Given the description of an element on the screen output the (x, y) to click on. 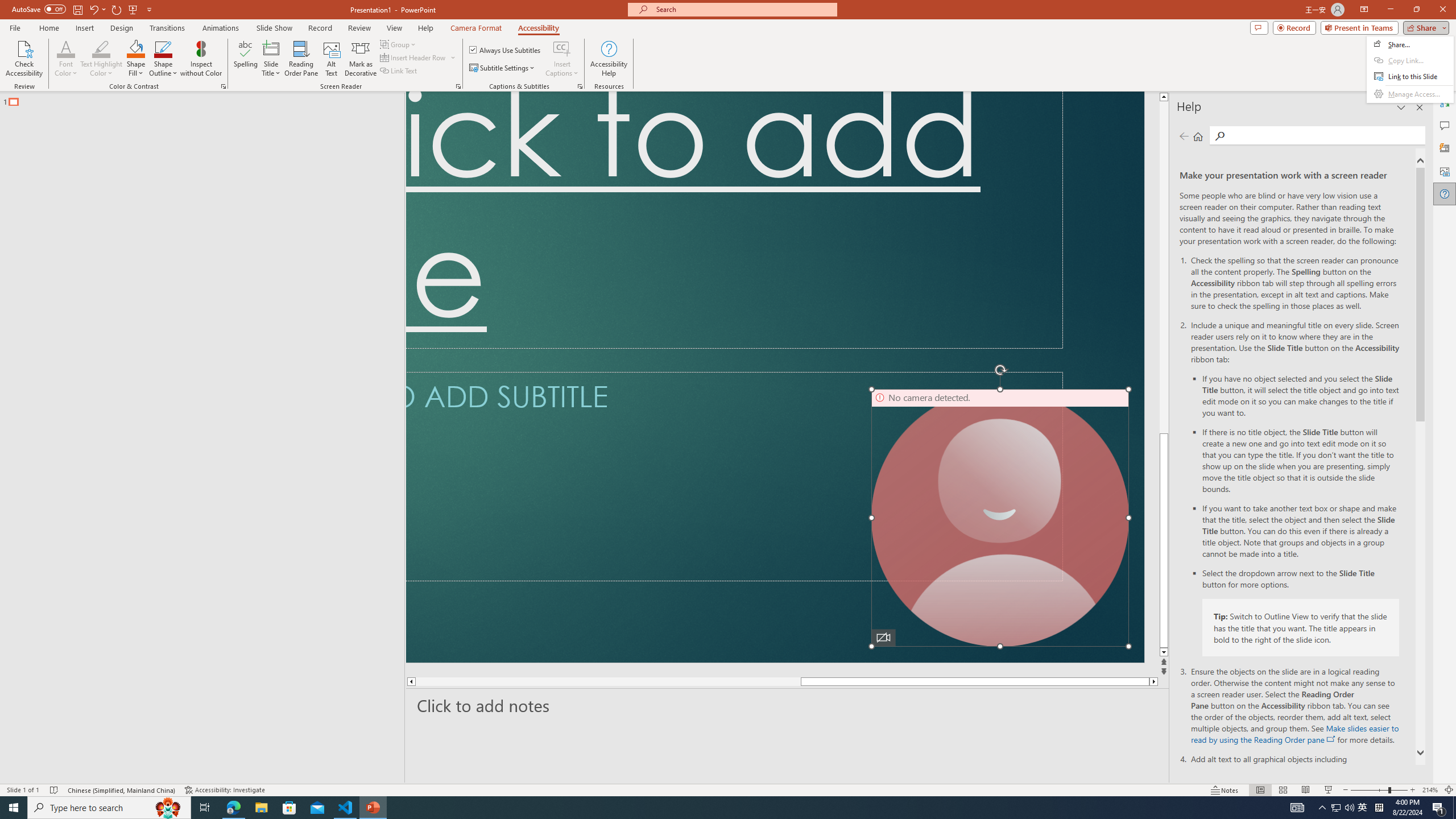
Always Use Subtitles (505, 49)
